Given the description of an element on the screen output the (x, y) to click on. 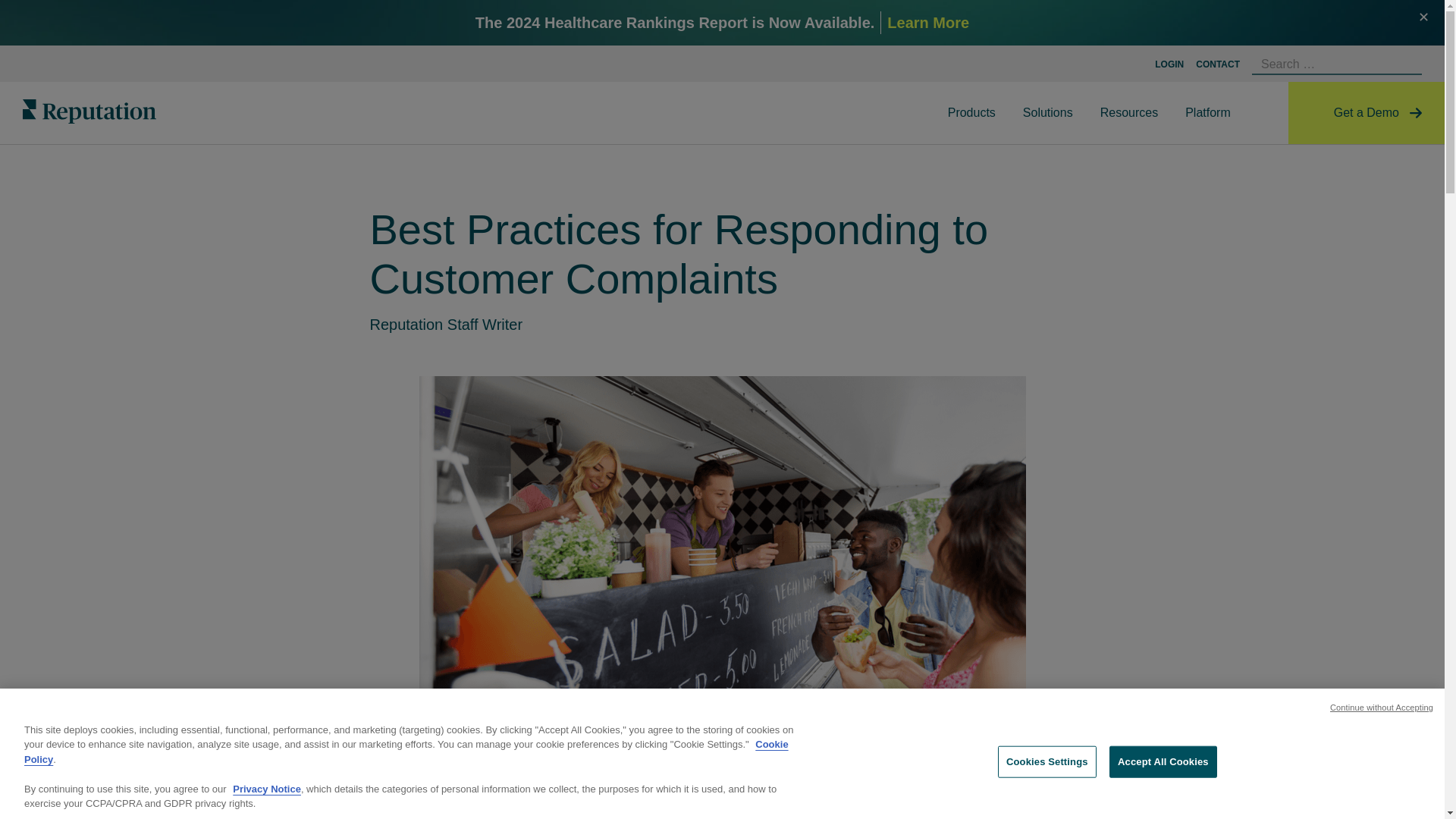
CONTACT (1217, 63)
LOGIN (1168, 63)
Resources (1129, 112)
Products (971, 112)
Reputation (89, 110)
Solutions (1047, 112)
